Given the description of an element on the screen output the (x, y) to click on. 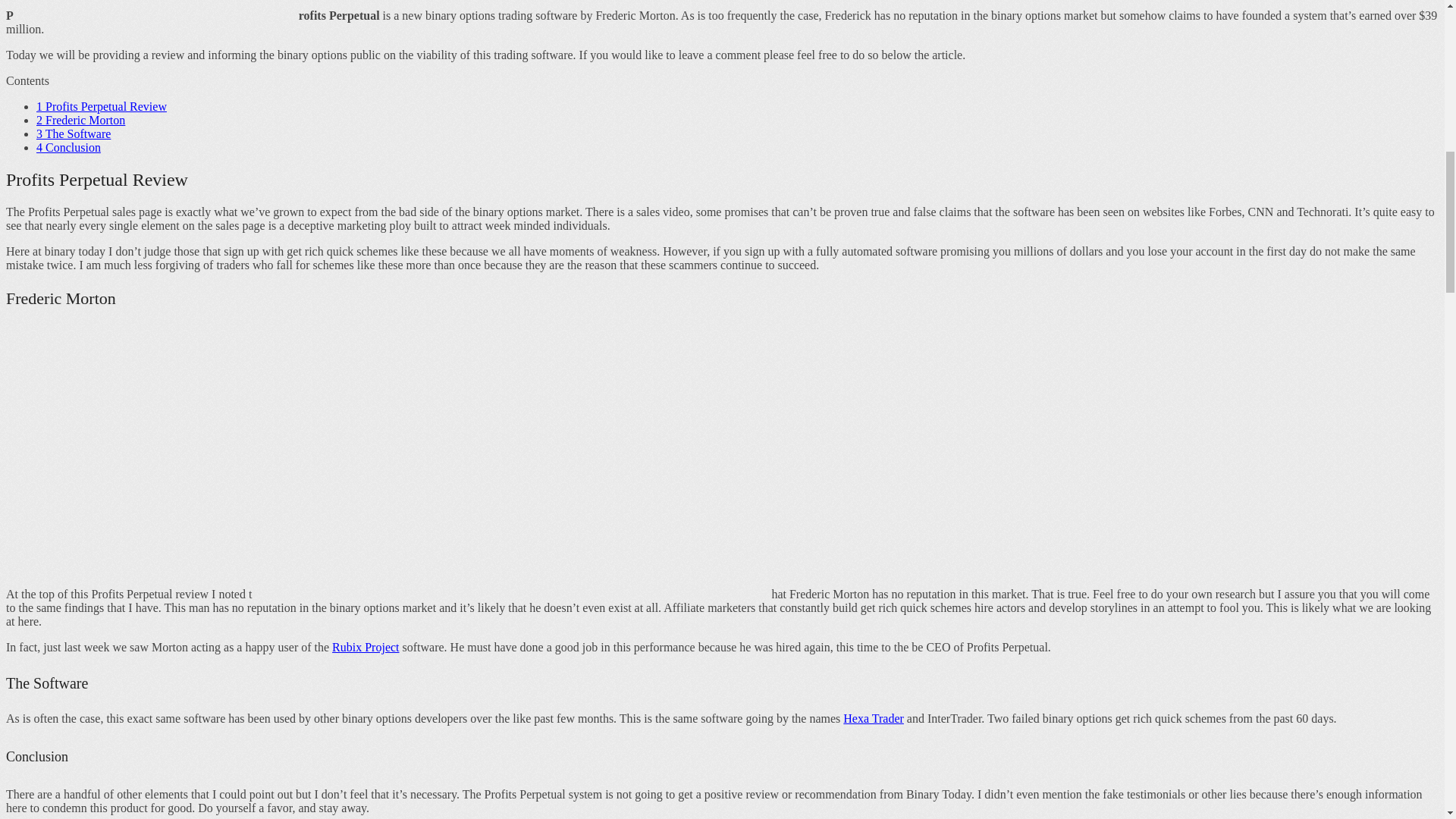
Hexa Trader (873, 717)
3 The Software (73, 133)
1 Profits Perpetual Review (101, 106)
2 Frederic Morton (80, 119)
Rubix Project (364, 646)
4 Conclusion (68, 146)
